Given the description of an element on the screen output the (x, y) to click on. 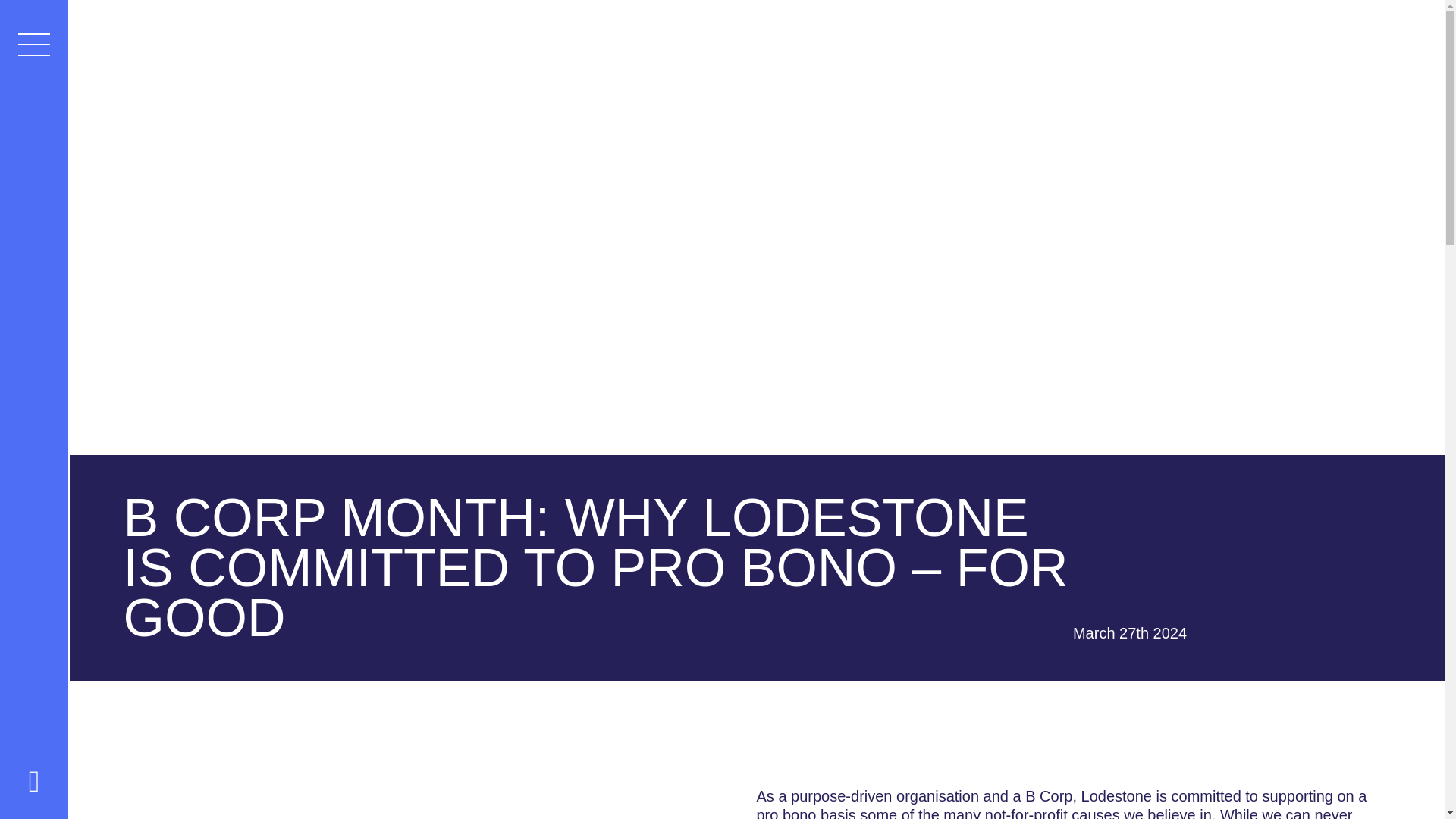
Get in touch (1315, 45)
